Given the description of an element on the screen output the (x, y) to click on. 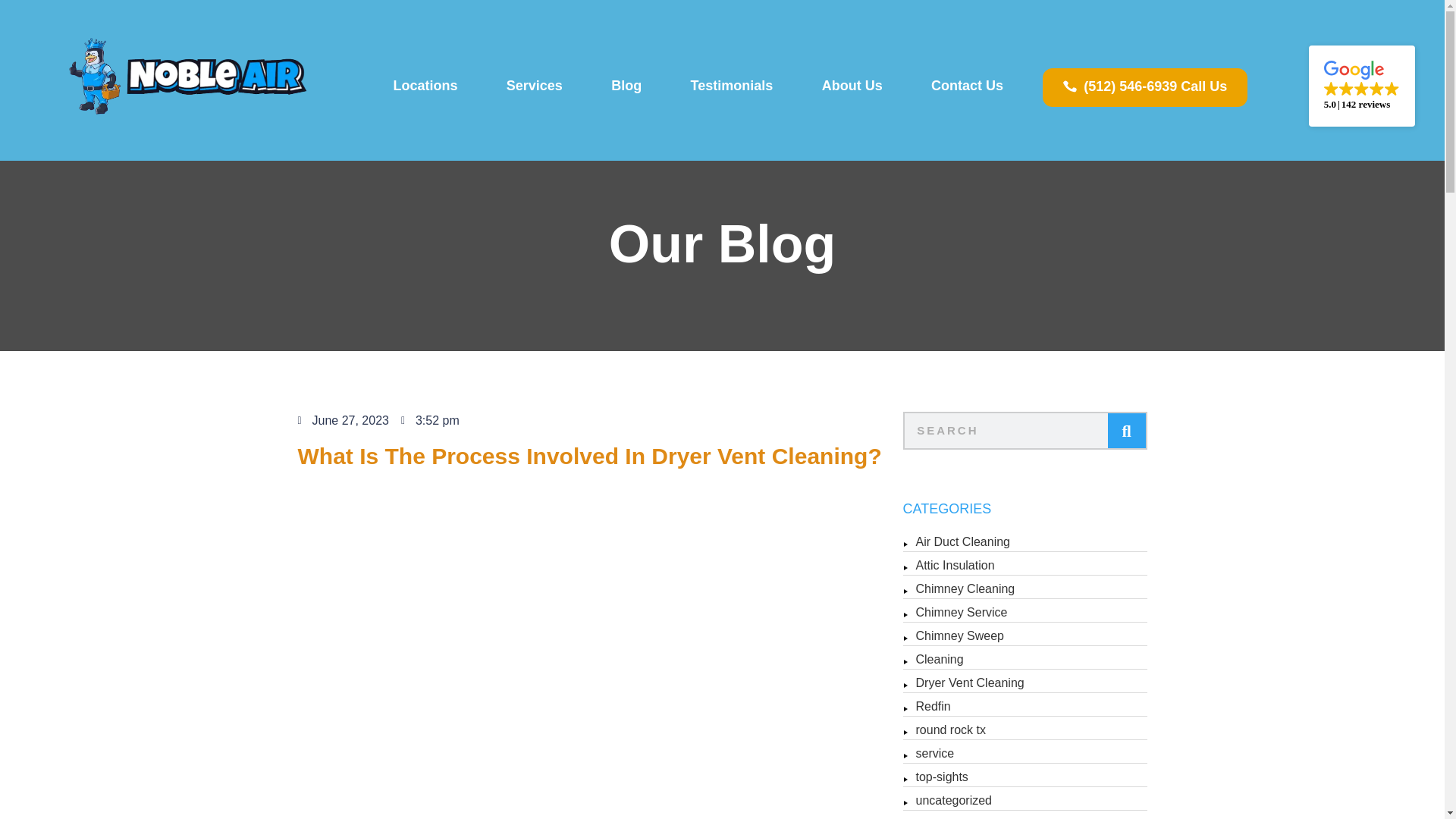
About Us (850, 85)
Services (533, 85)
5.0142 reviews (1361, 85)
Testimonials (730, 85)
Blog (625, 85)
Contact Us (967, 85)
Locations (424, 85)
